Given the description of an element on the screen output the (x, y) to click on. 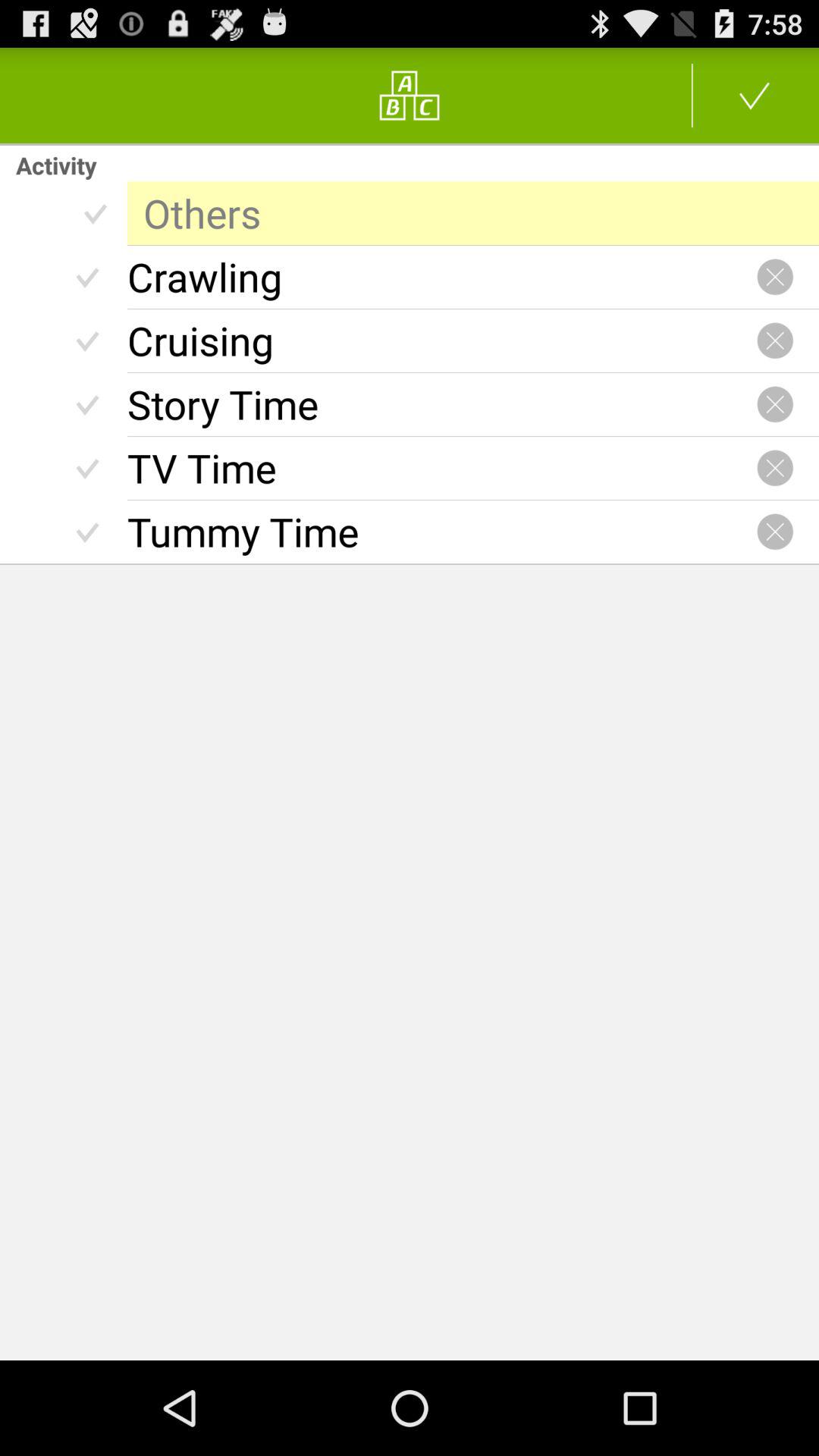
remove filter (775, 340)
